Given the description of an element on the screen output the (x, y) to click on. 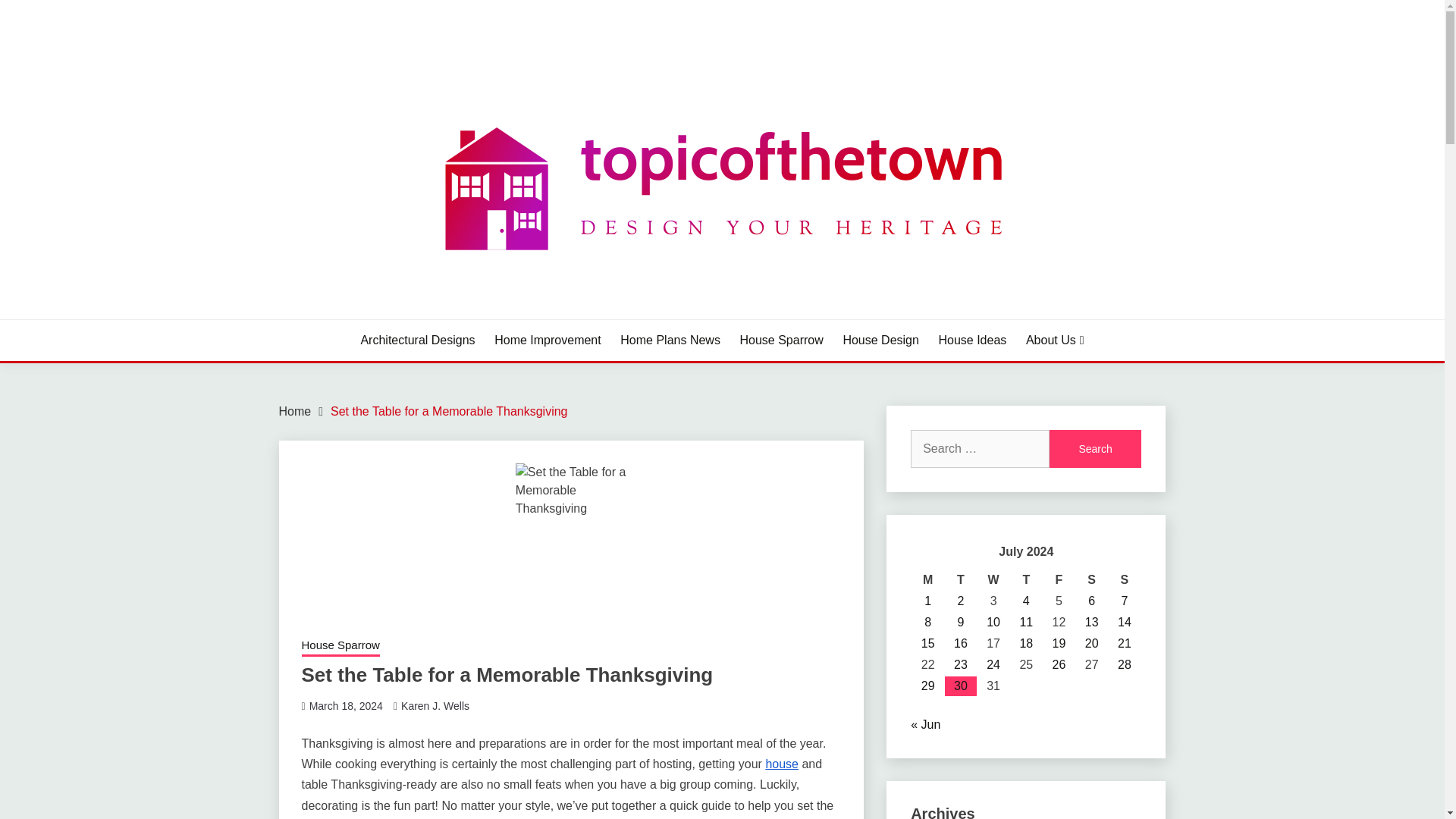
Wednesday (993, 579)
TOPICOFTHETOWN (411, 317)
Karen J. Wells (434, 705)
House Design (880, 340)
Set the Table for a Memorable Thanksgiving (448, 410)
Home (295, 410)
Tuesday (959, 579)
Thursday (1026, 579)
March 18, 2024 (345, 705)
House Sparrow (781, 340)
Saturday (1090, 579)
Search (1095, 448)
Home Plans News (670, 340)
About Us (1055, 340)
House Sparrow (340, 646)
